Given the description of an element on the screen output the (x, y) to click on. 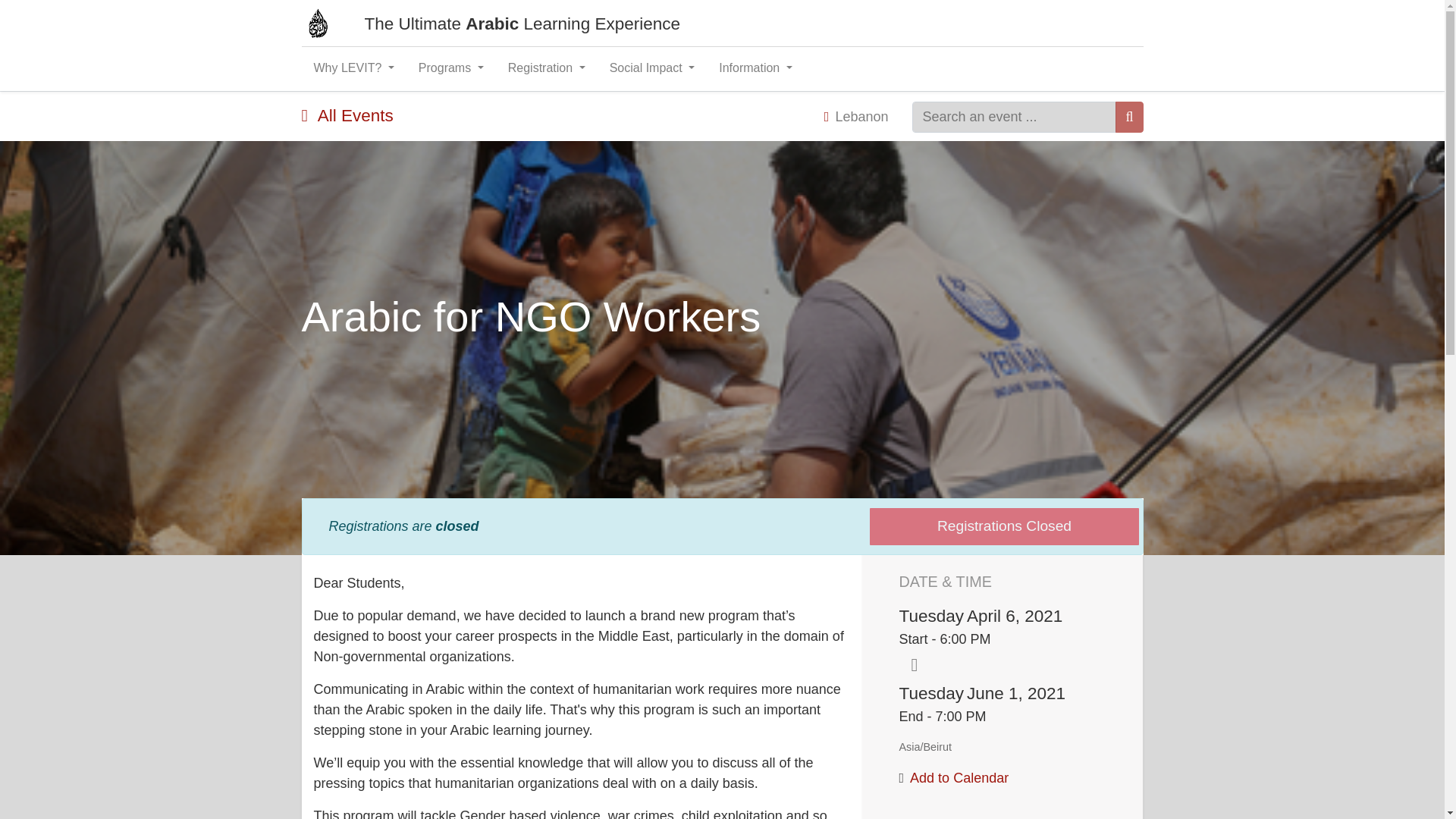
Information (755, 68)
Social Impact (651, 68)
Why LEVIT? (353, 68)
Programs (451, 68)
Registration (546, 68)
Levantine Institute (317, 23)
